Given the description of an element on the screen output the (x, y) to click on. 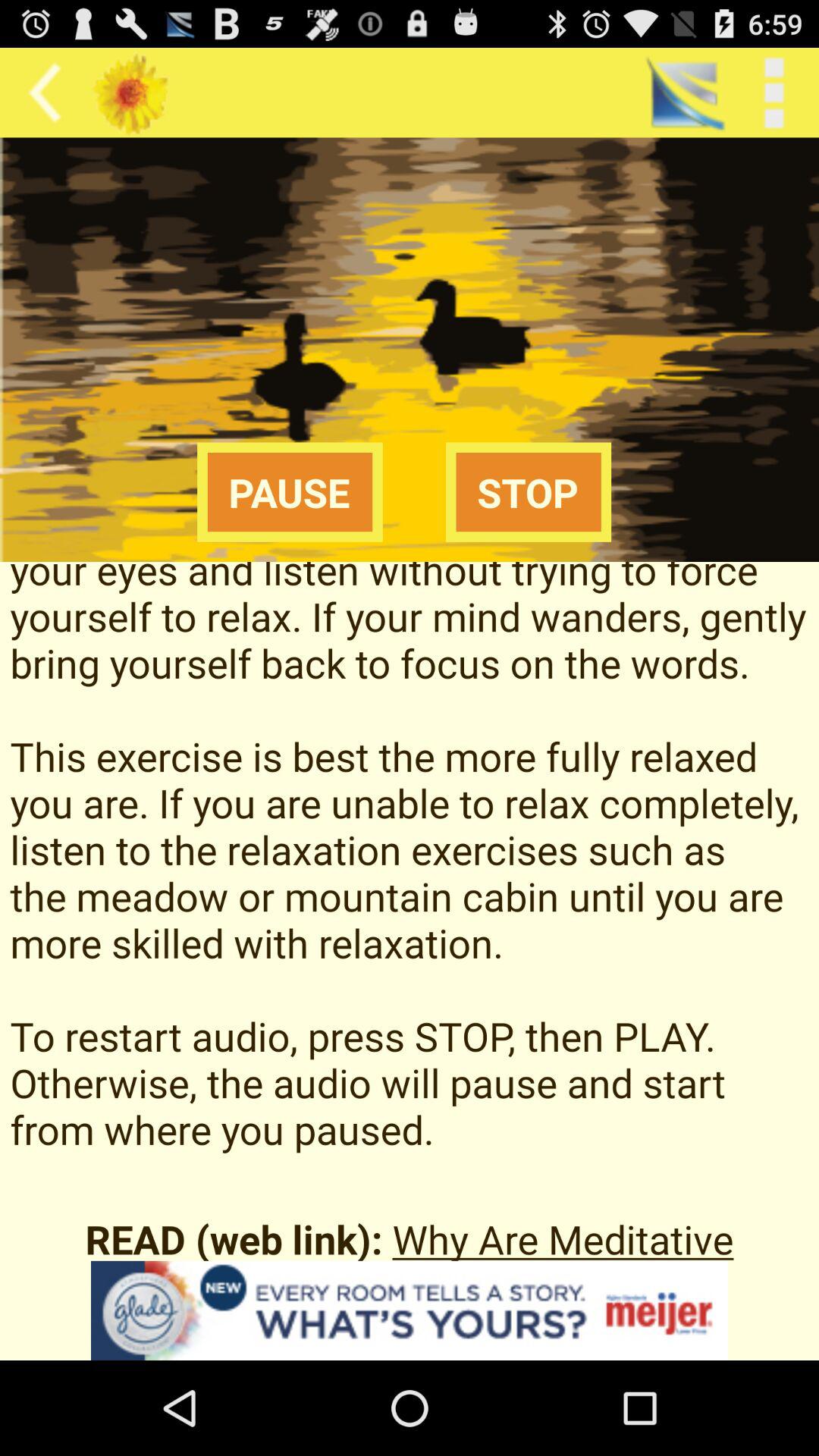
advertisement page (409, 1310)
